Given the description of an element on the screen output the (x, y) to click on. 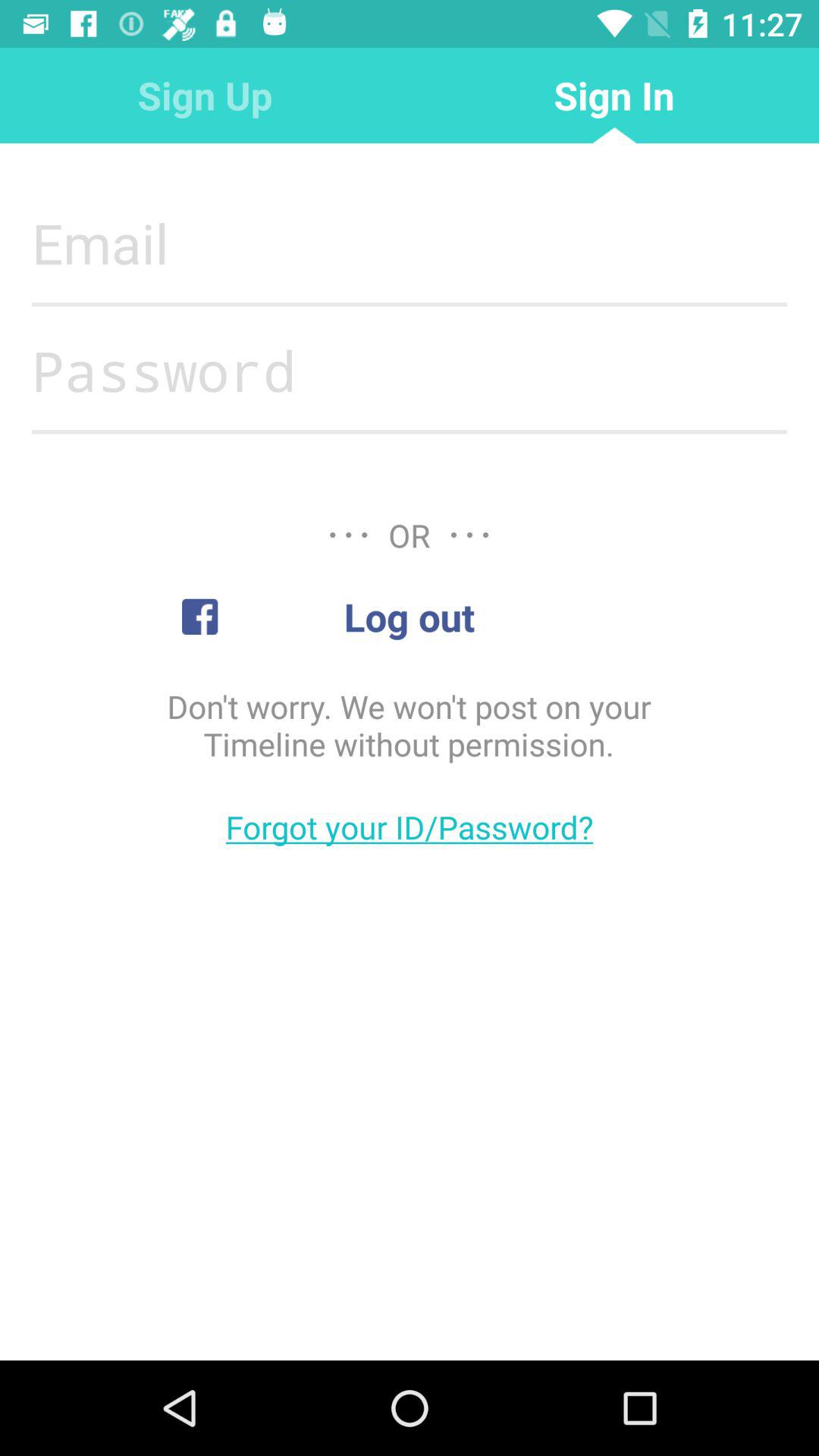
select the item at the top left corner (204, 95)
